Given the description of an element on the screen output the (x, y) to click on. 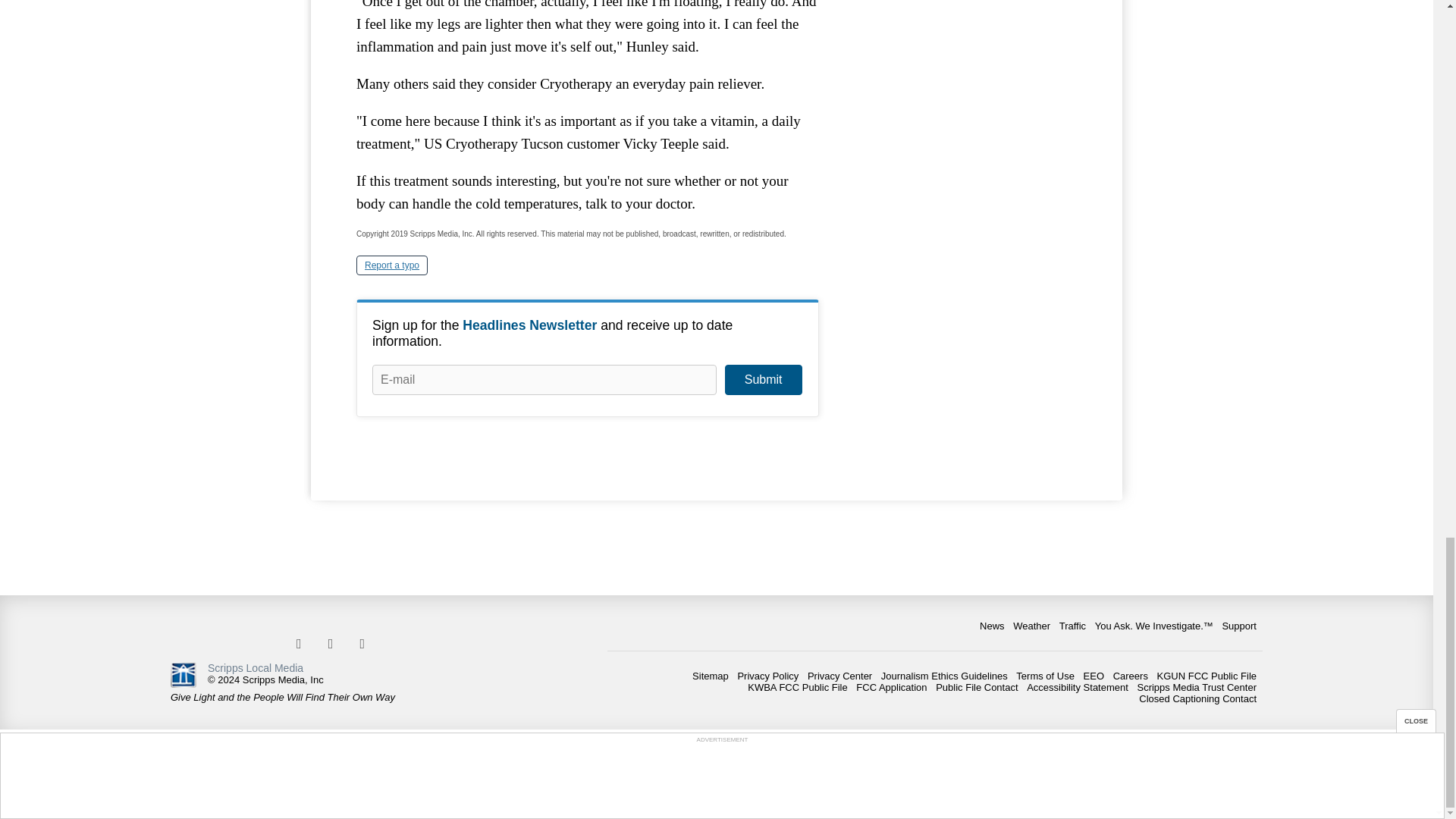
Submit (763, 379)
